Given the description of an element on the screen output the (x, y) to click on. 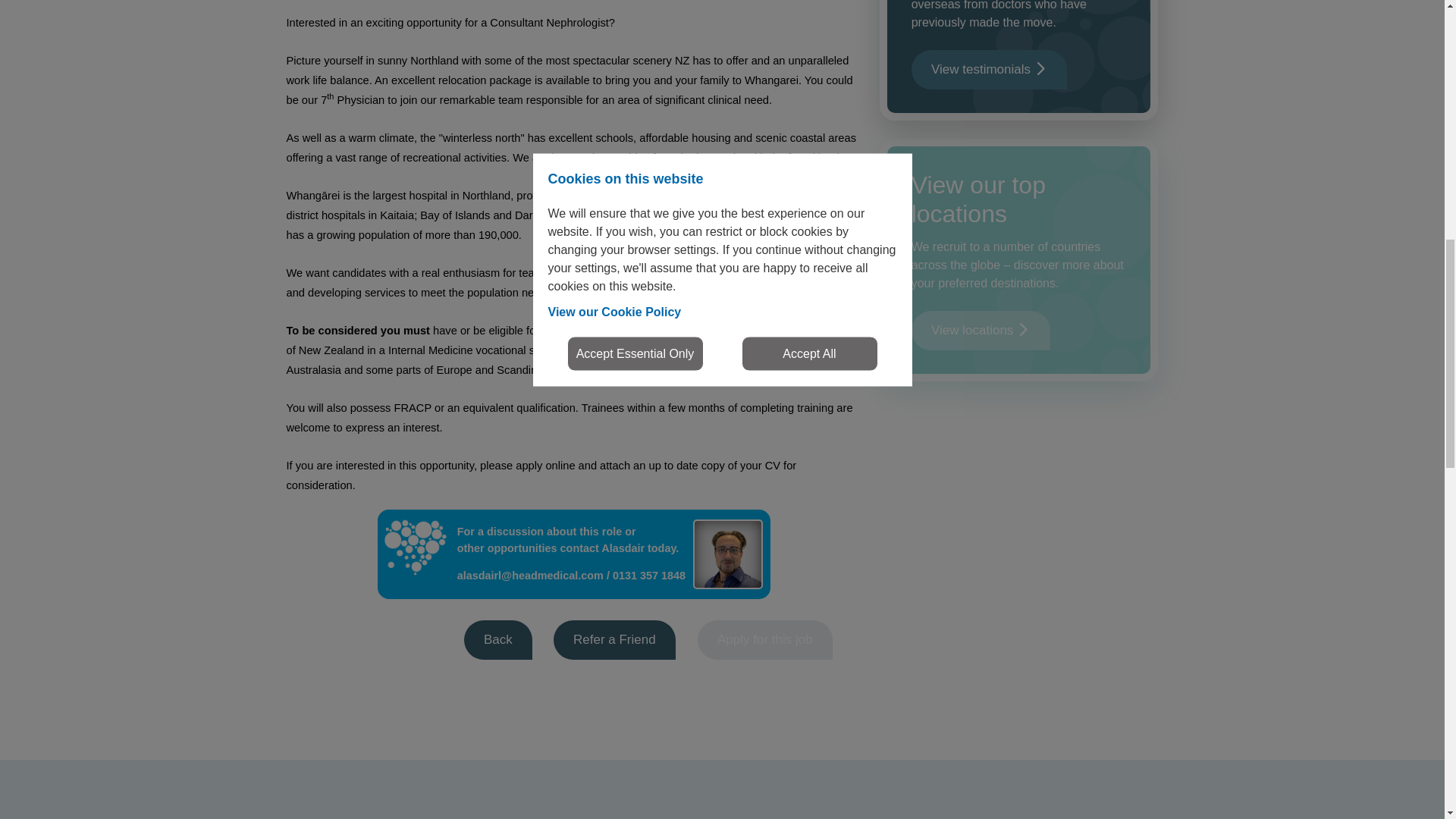
Apply for this job (764, 639)
Refer a Friend (614, 639)
Back (498, 639)
